Given the description of an element on the screen output the (x, y) to click on. 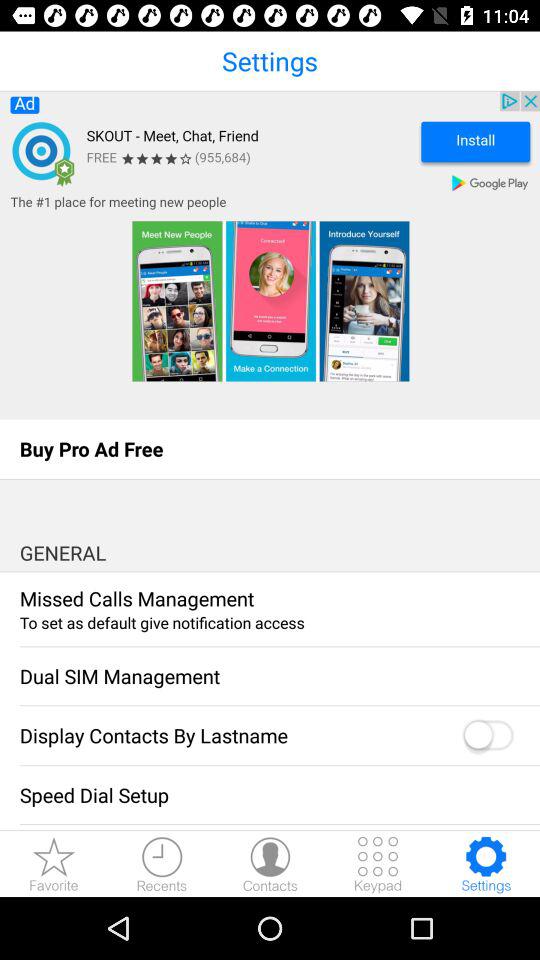
recents (161, 864)
